Given the description of an element on the screen output the (x, y) to click on. 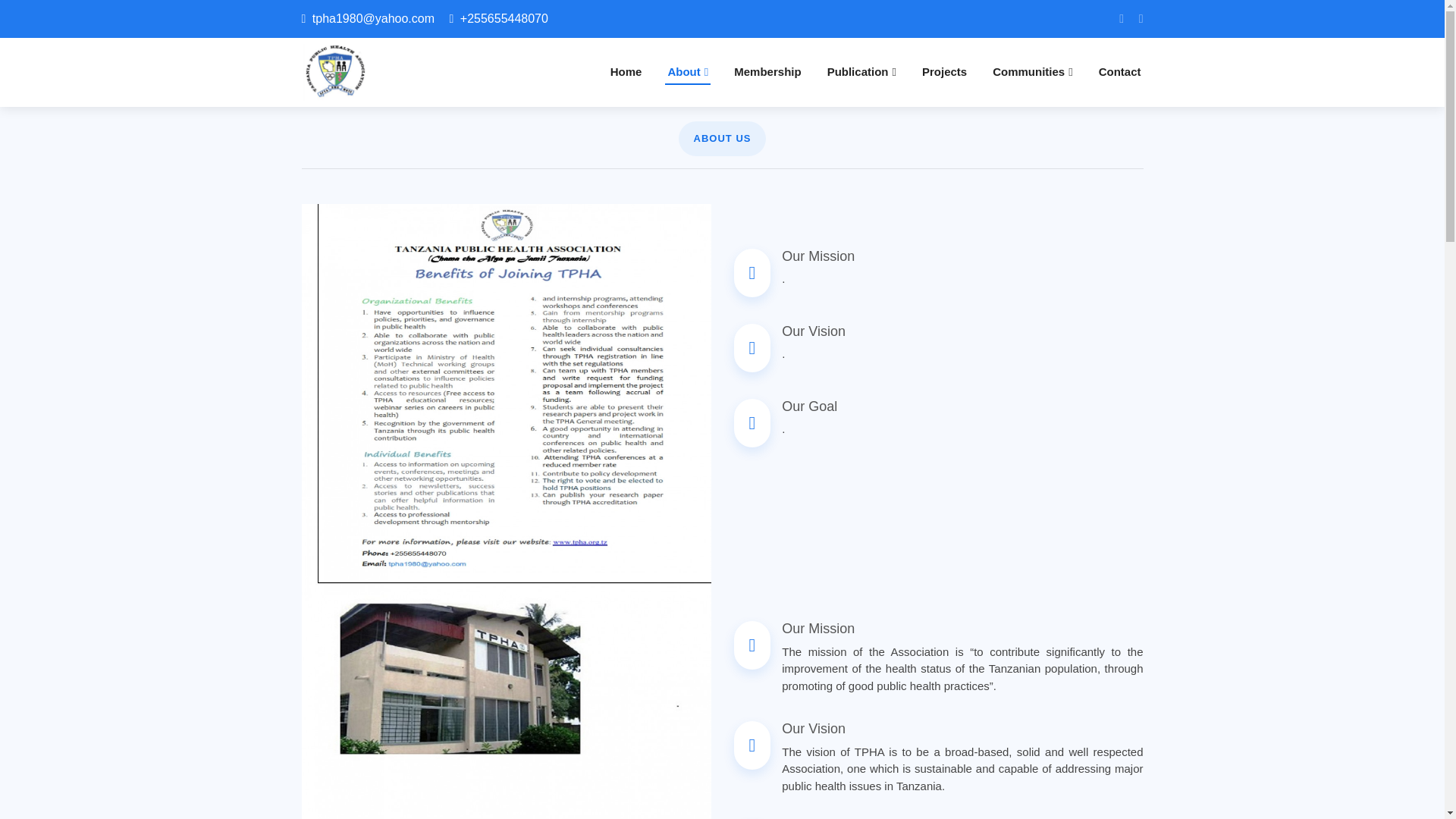
Projects (944, 72)
Publication (861, 72)
Communities (1032, 72)
Membership (767, 72)
Home (626, 72)
Contact (1119, 72)
About (687, 72)
